Given the description of an element on the screen output the (x, y) to click on. 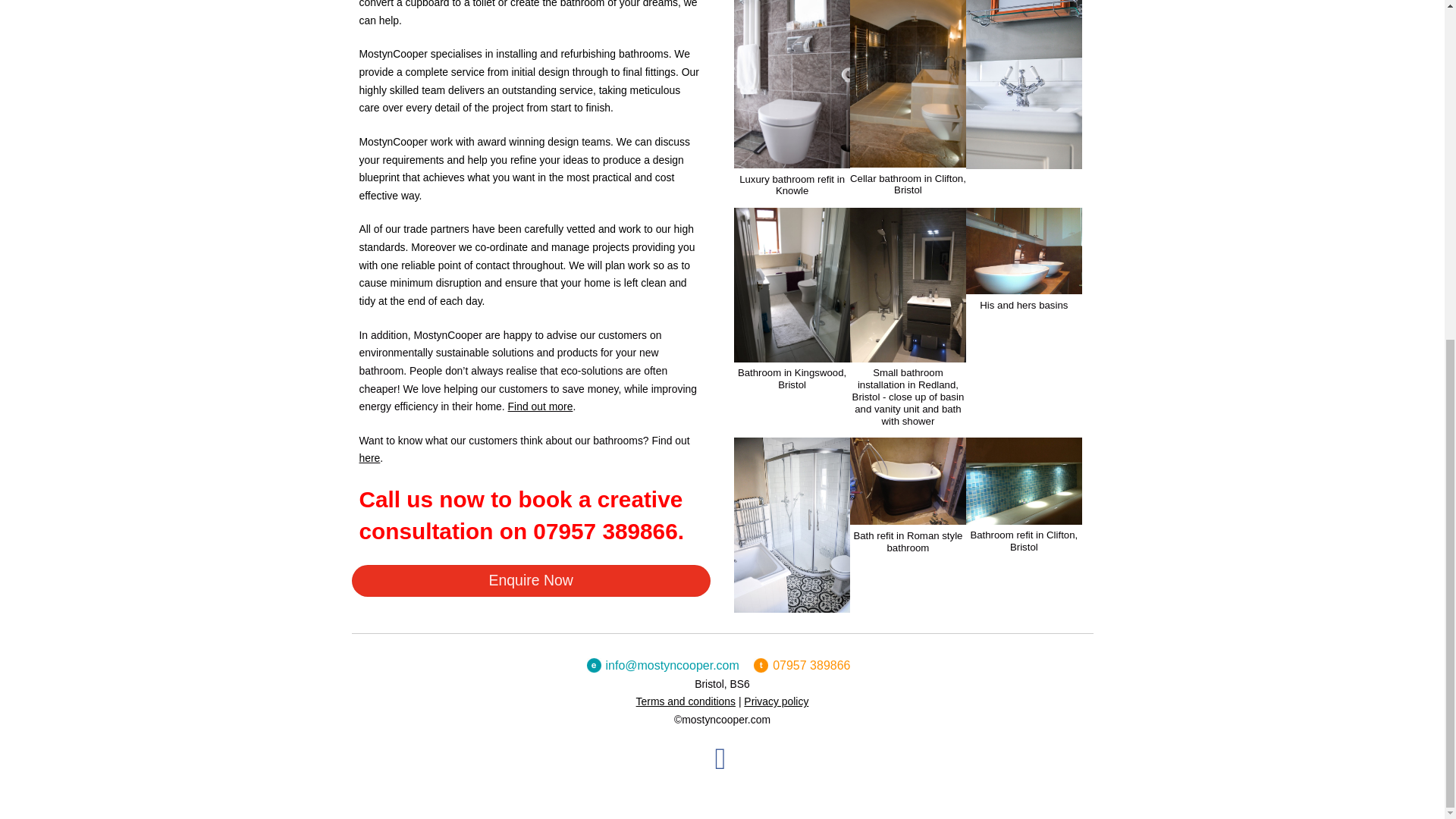
Luxury bathroom refit in Knowle (791, 158)
Cellar bathroom in Clifton, Bristol (908, 157)
here (369, 458)
Bath refit in Roman style bathroom (908, 514)
Find out more (540, 406)
Enquire Now (531, 581)
His and hers basins (1023, 285)
Bathroom in Kingswood, Bristol (791, 352)
